Given the description of an element on the screen output the (x, y) to click on. 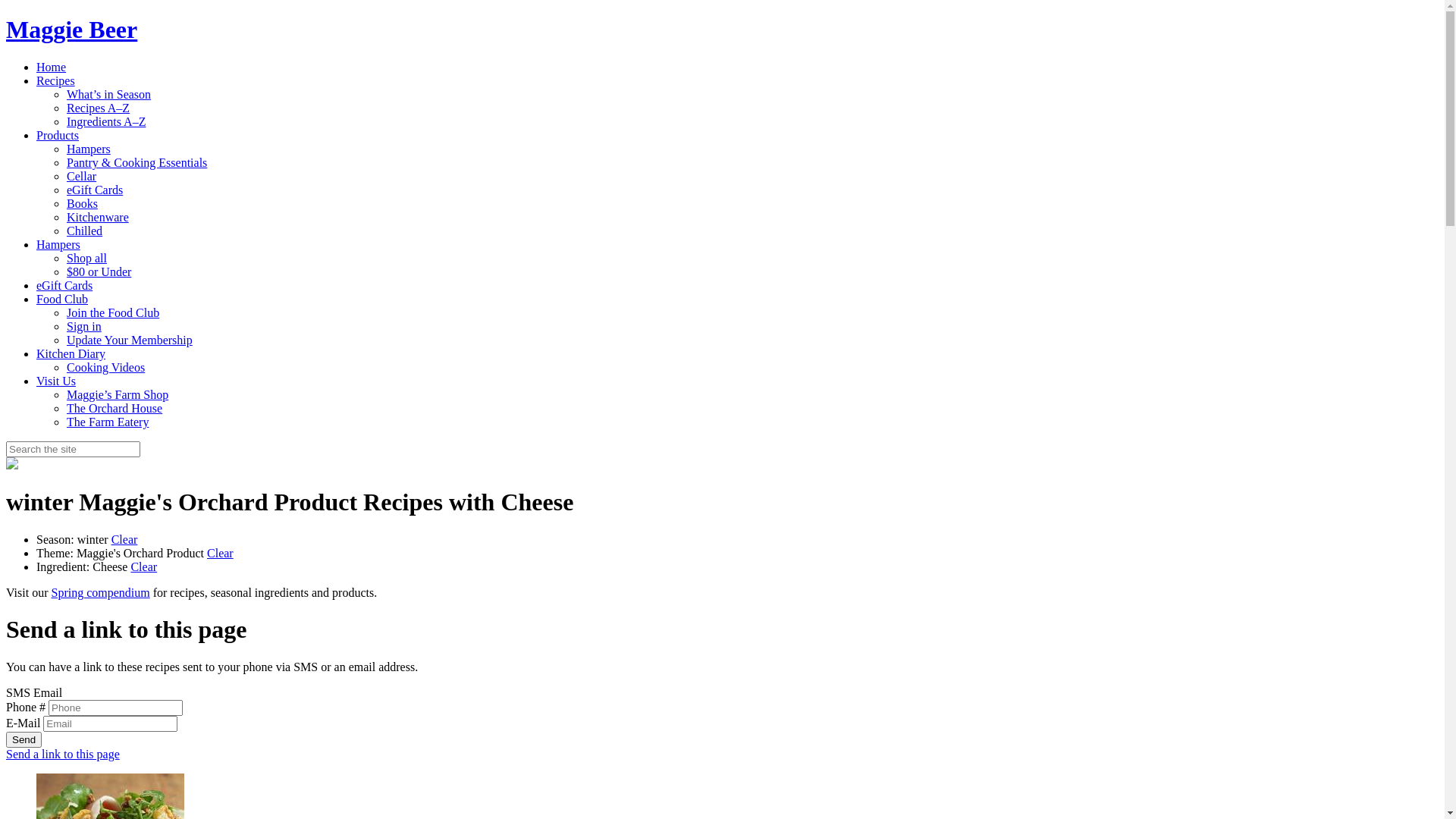
Send Element type: text (23, 739)
Home Element type: text (50, 66)
Kitchenware Element type: text (97, 216)
Clear Element type: text (124, 539)
Visit Us Element type: text (55, 380)
Kitchen Diary Element type: text (70, 353)
Cellar Element type: text (81, 175)
The Farm Eatery Element type: text (107, 421)
Books Element type: text (81, 203)
Clear Element type: text (220, 552)
Hampers Element type: text (58, 244)
Sign in Element type: text (83, 326)
The Orchard House Element type: text (114, 407)
eGift Cards Element type: text (94, 189)
Pantry & Cooking Essentials Element type: text (136, 162)
$80 or Under Element type: text (98, 271)
Products Element type: text (57, 134)
Clear Element type: text (143, 566)
eGift Cards Element type: text (64, 285)
Cooking Videos Element type: text (105, 366)
Recipes Element type: text (55, 80)
Food Club Element type: text (61, 298)
Spring compendium Element type: text (99, 592)
Chilled Element type: text (84, 230)
Update Your Membership Element type: text (129, 339)
Send a link to this page Element type: text (62, 753)
Hampers Element type: text (88, 148)
Shop all Element type: text (86, 257)
Maggie Beer Element type: text (71, 29)
Join the Food Club Element type: text (112, 312)
